Given the description of an element on the screen output the (x, y) to click on. 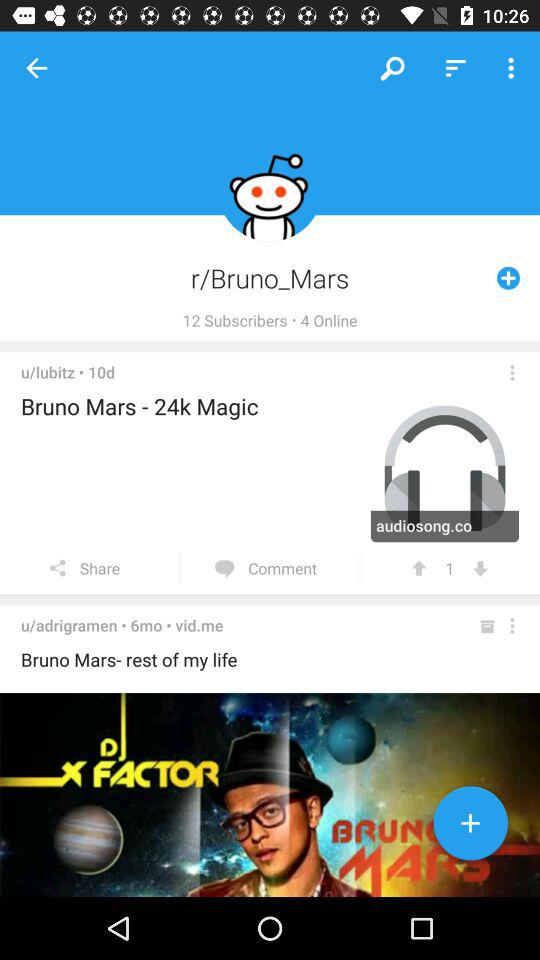
open menu (512, 372)
